Given the description of an element on the screen output the (x, y) to click on. 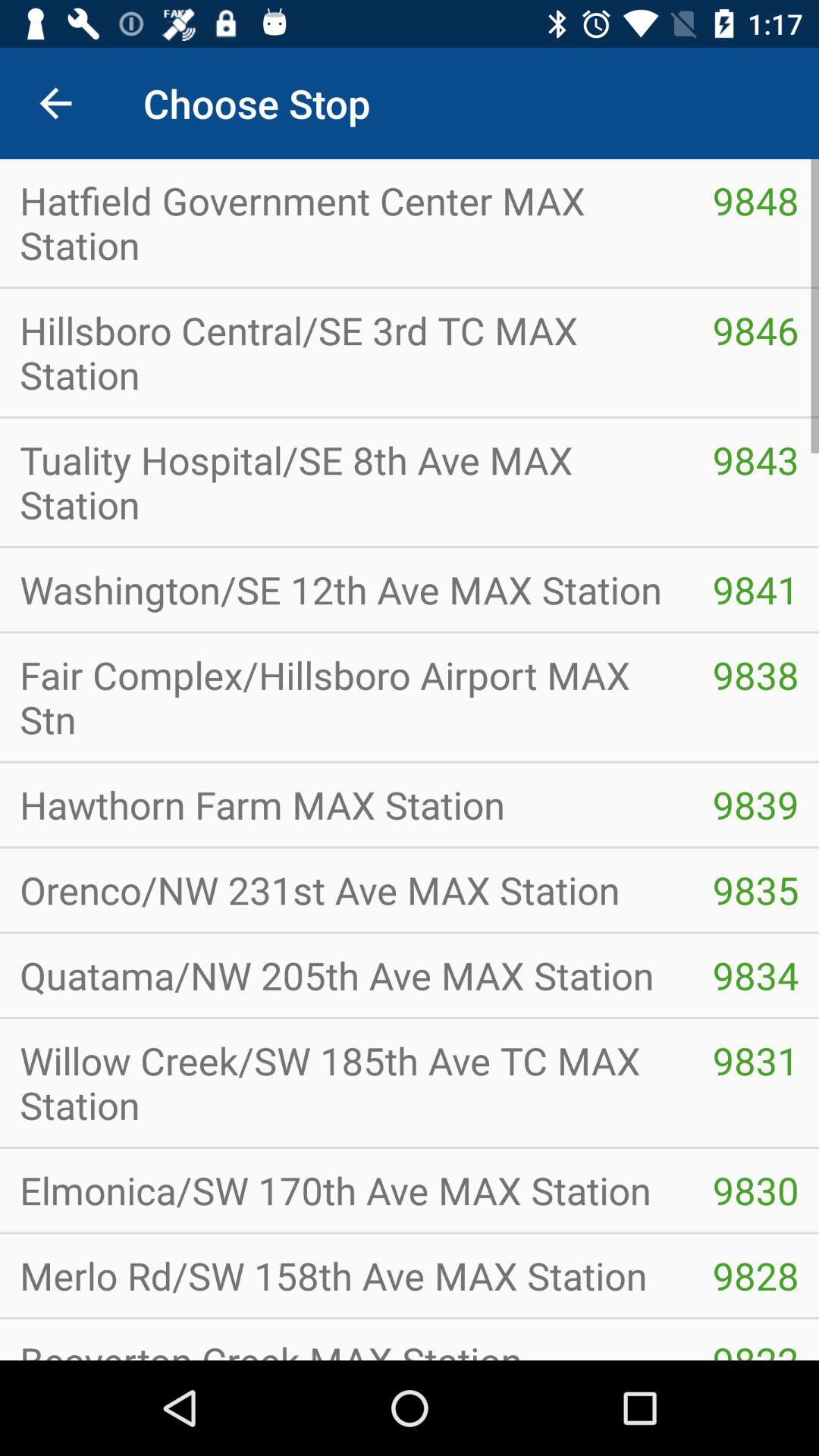
click 9839 icon (755, 804)
